Given the description of an element on the screen output the (x, y) to click on. 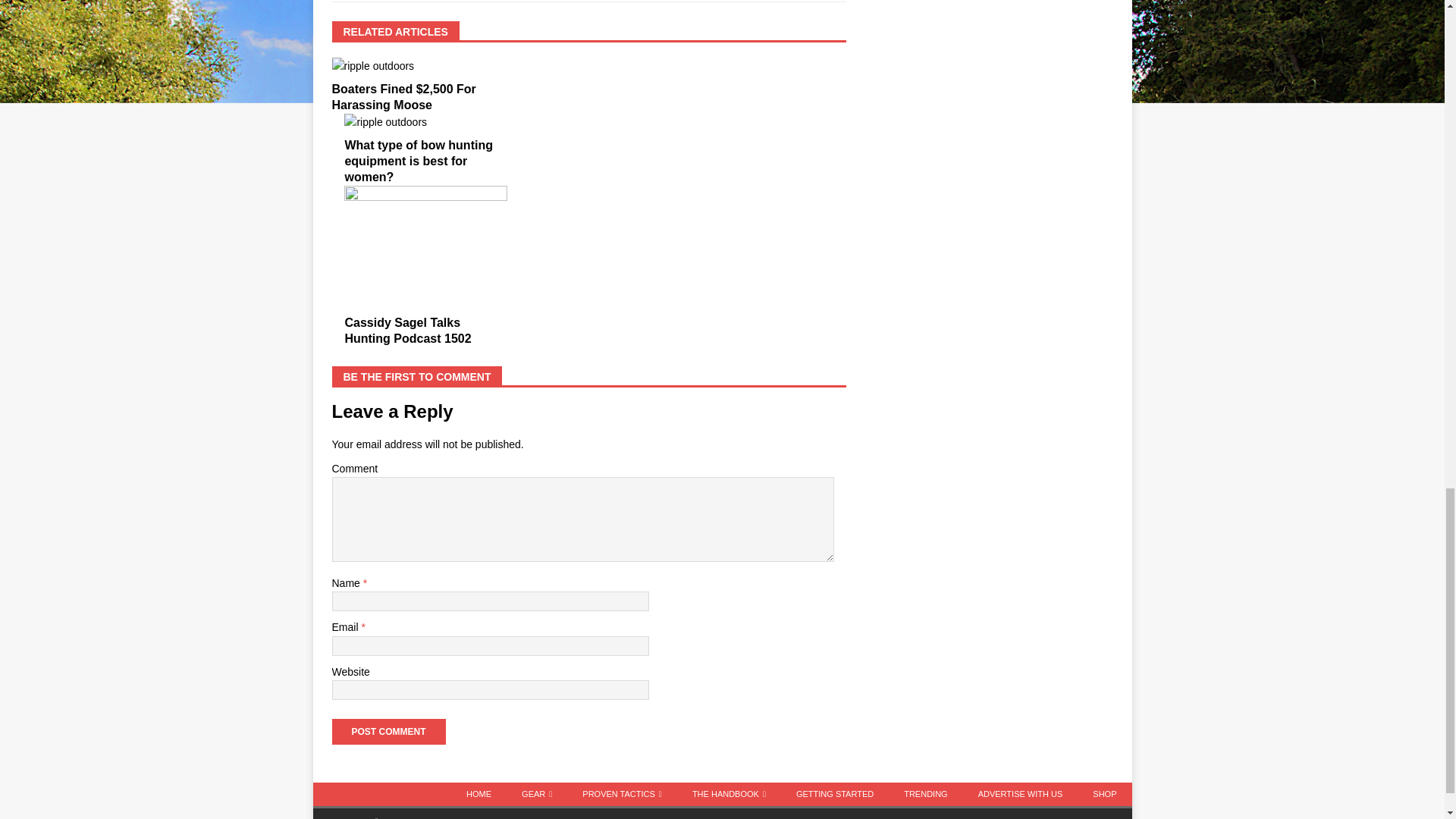
Post Comment (388, 731)
